Given the description of an element on the screen output the (x, y) to click on. 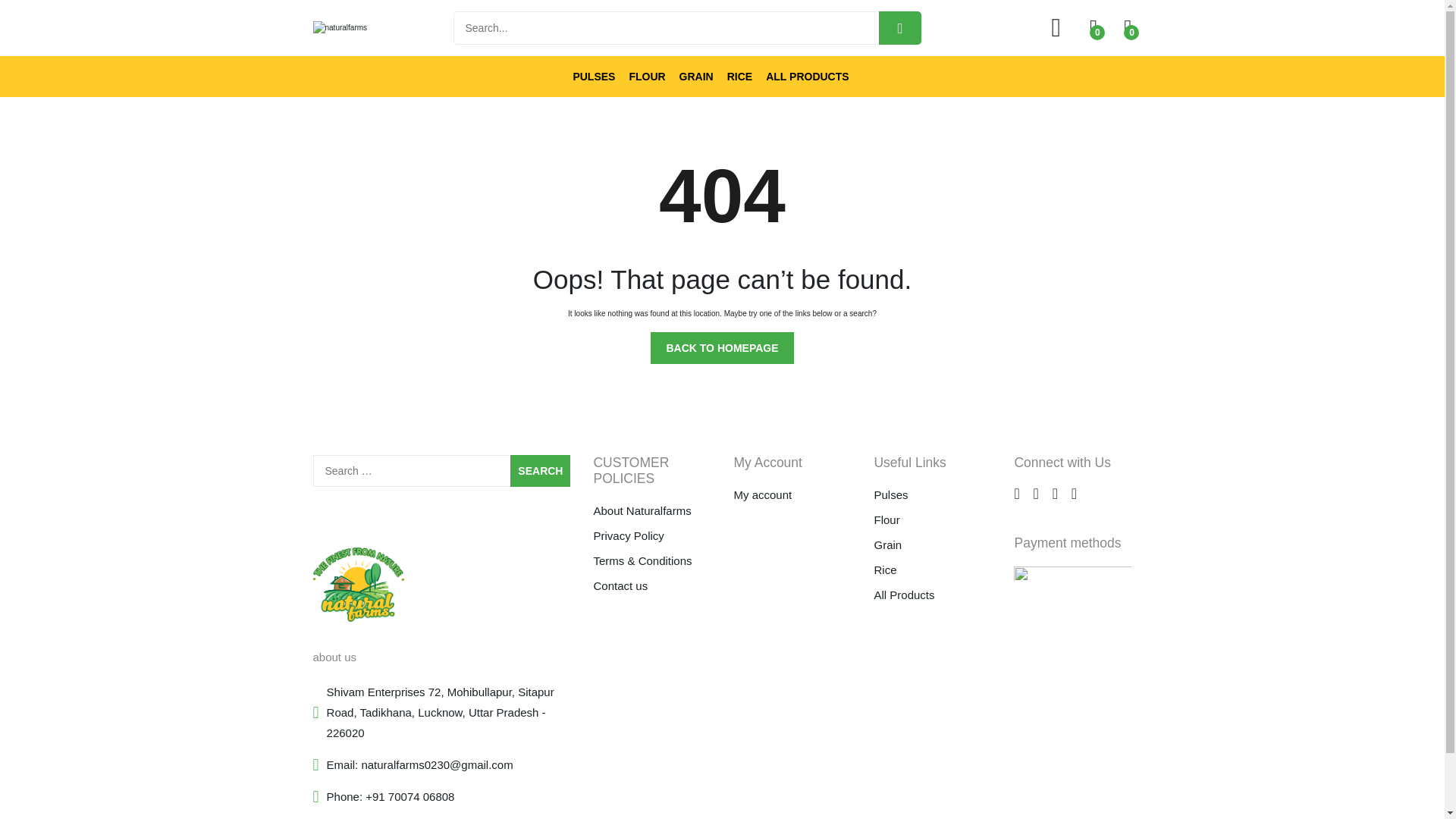
My account (791, 495)
All Products (932, 595)
About Naturalfarms (651, 511)
Flour (932, 520)
Grain (932, 545)
BACK TO HOMEPAGE (721, 347)
Rice (932, 570)
Privacy Policy (651, 536)
Contact us (651, 586)
Search (540, 470)
Log in (723, 493)
Pulses (932, 495)
ALL PRODUCTS (806, 76)
PULSES (593, 76)
Search (540, 470)
